Given the description of an element on the screen output the (x, y) to click on. 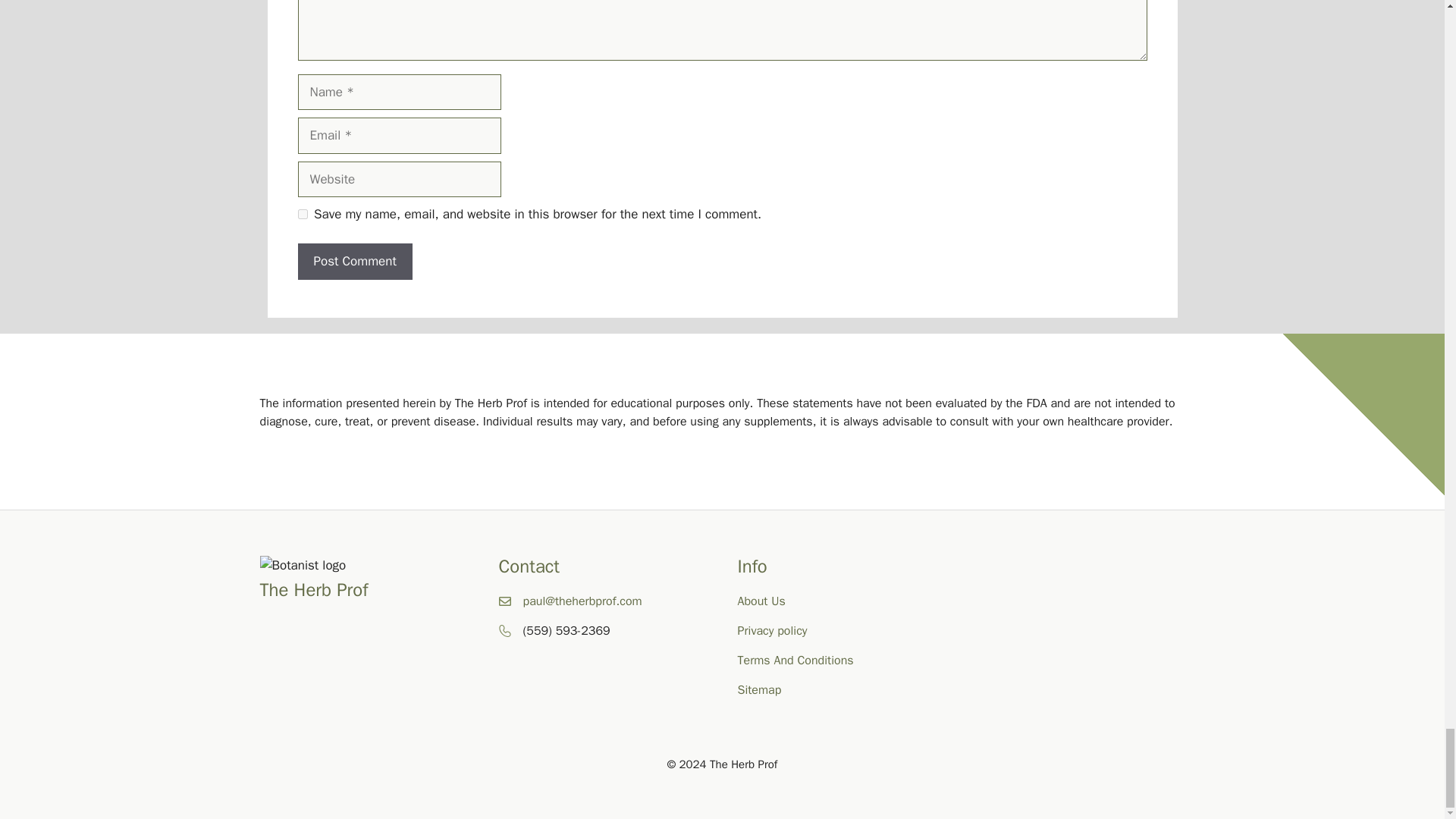
Post Comment (354, 261)
Botanist logo (302, 565)
yes (302, 214)
